Given the description of an element on the screen output the (x, y) to click on. 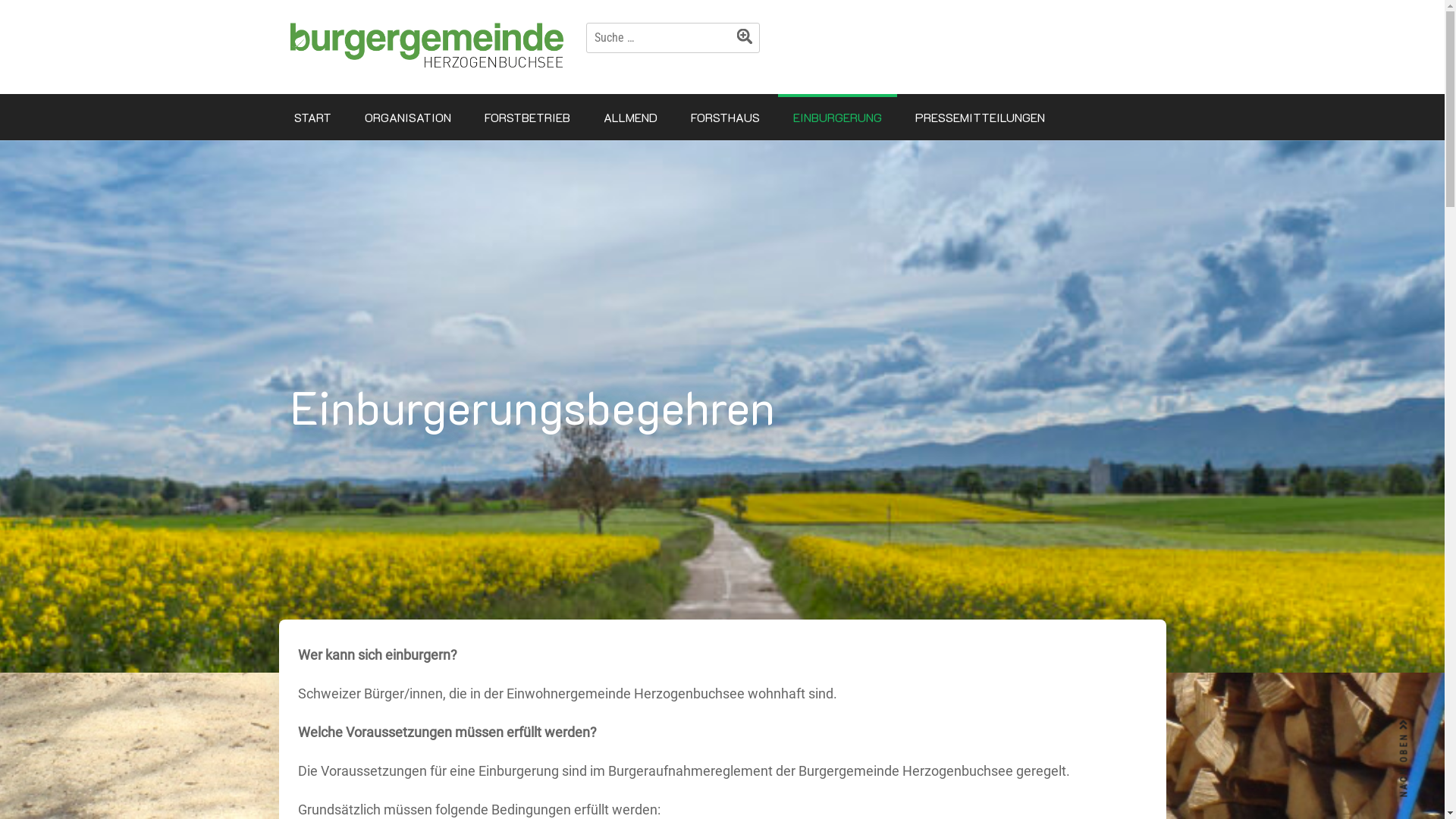
ORGANISATION Element type: text (406, 117)
START Element type: text (312, 117)
EINBURGERUNG Element type: text (837, 117)
ALLMEND Element type: text (630, 117)
FORSTBETRIEB Element type: text (526, 117)
PRESSEMITTEILUNGEN Element type: text (979, 117)
Suche Element type: text (748, 38)
FORSTHAUS Element type: text (724, 117)
